Given the description of an element on the screen output the (x, y) to click on. 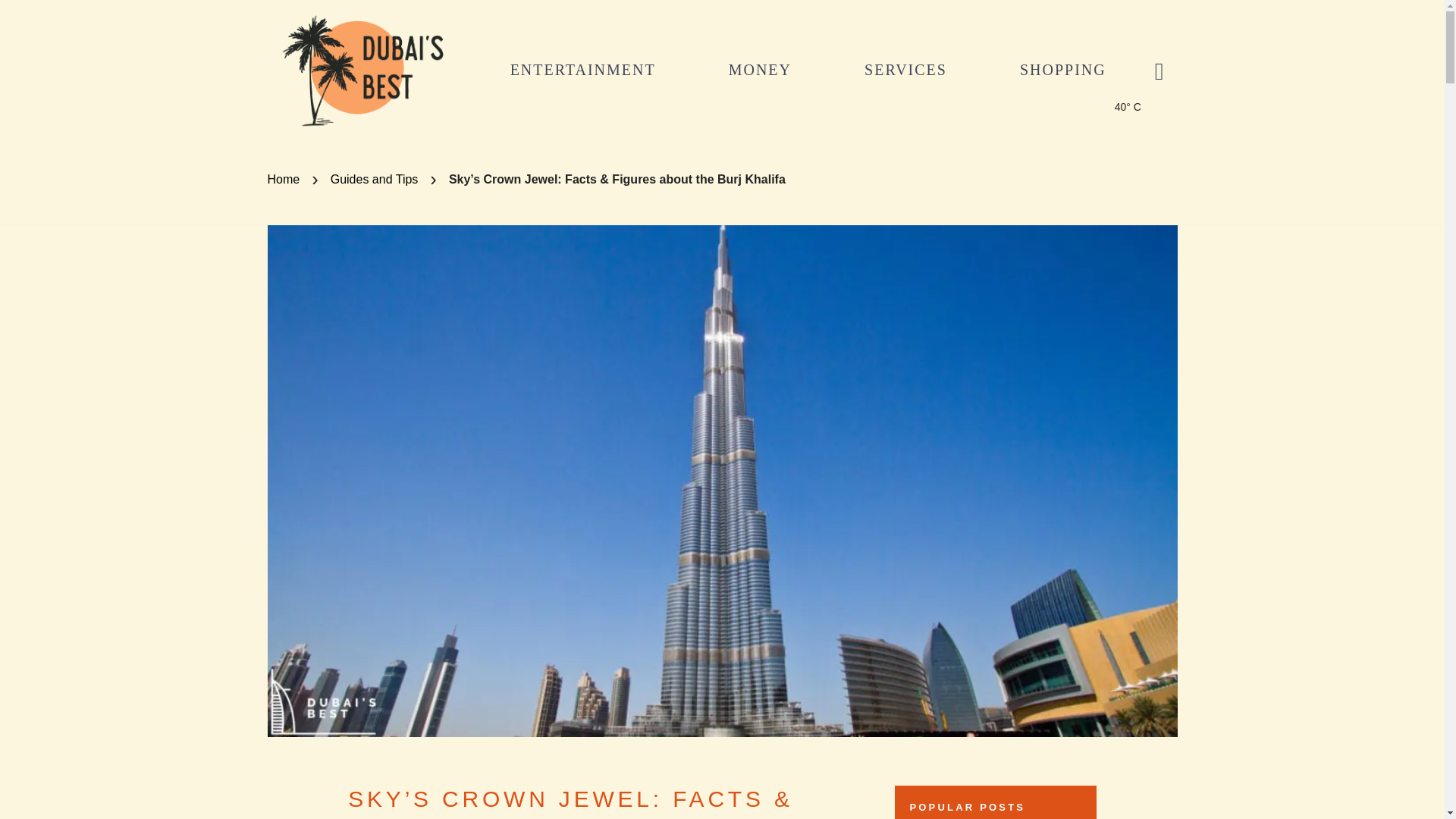
SHOPPING (1063, 69)
SERVICES (905, 69)
ENTERTAINMENT (583, 69)
